Given the description of an element on the screen output the (x, y) to click on. 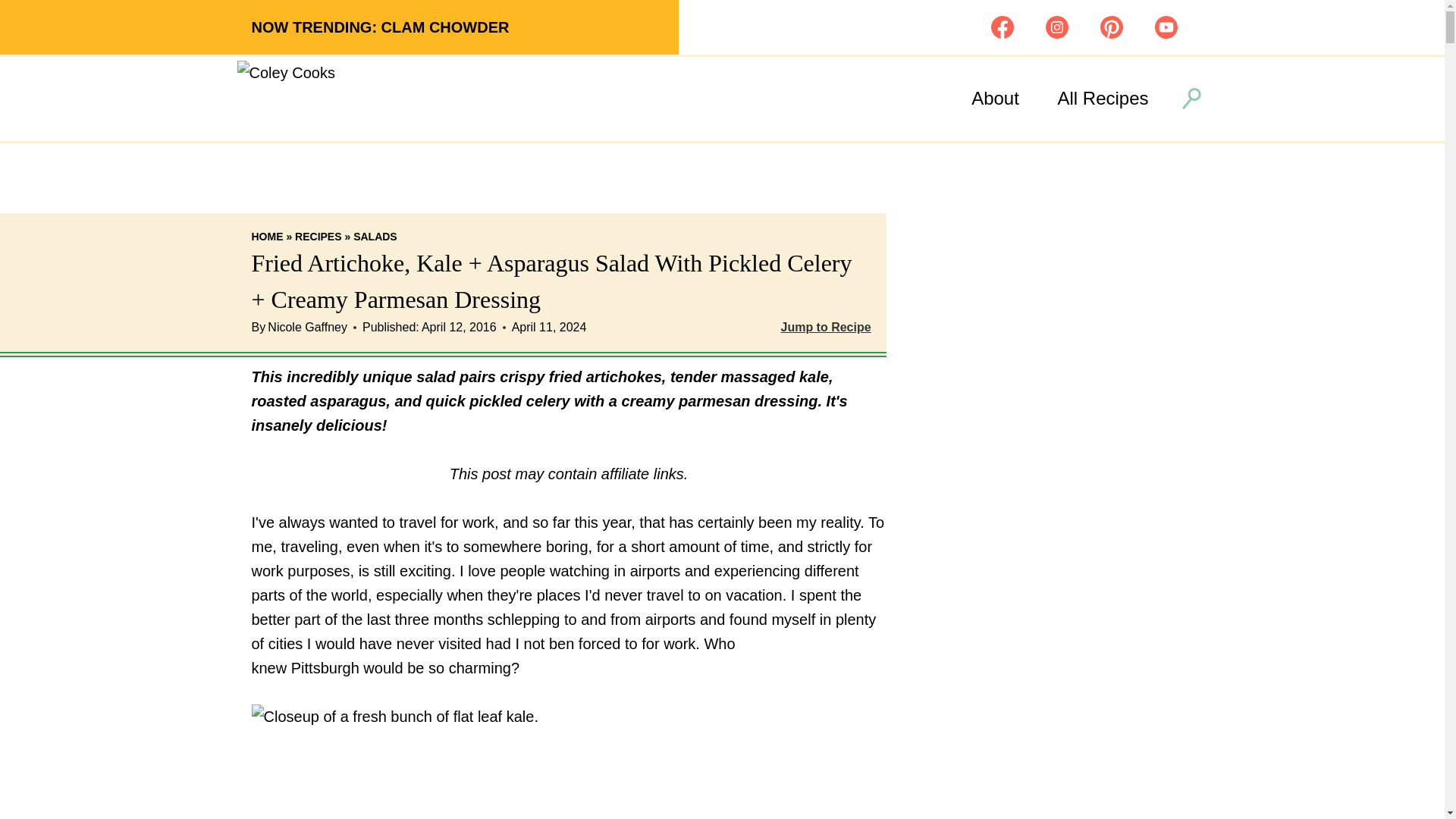
Jump to Recipe (825, 327)
Nicole Gaffney (307, 327)
All Recipes (1102, 98)
NOW TRENDING: CLAM CHOWDER (380, 27)
SALADS (375, 236)
RECIPES (317, 236)
HOME (267, 236)
About (995, 98)
